Given the description of an element on the screen output the (x, y) to click on. 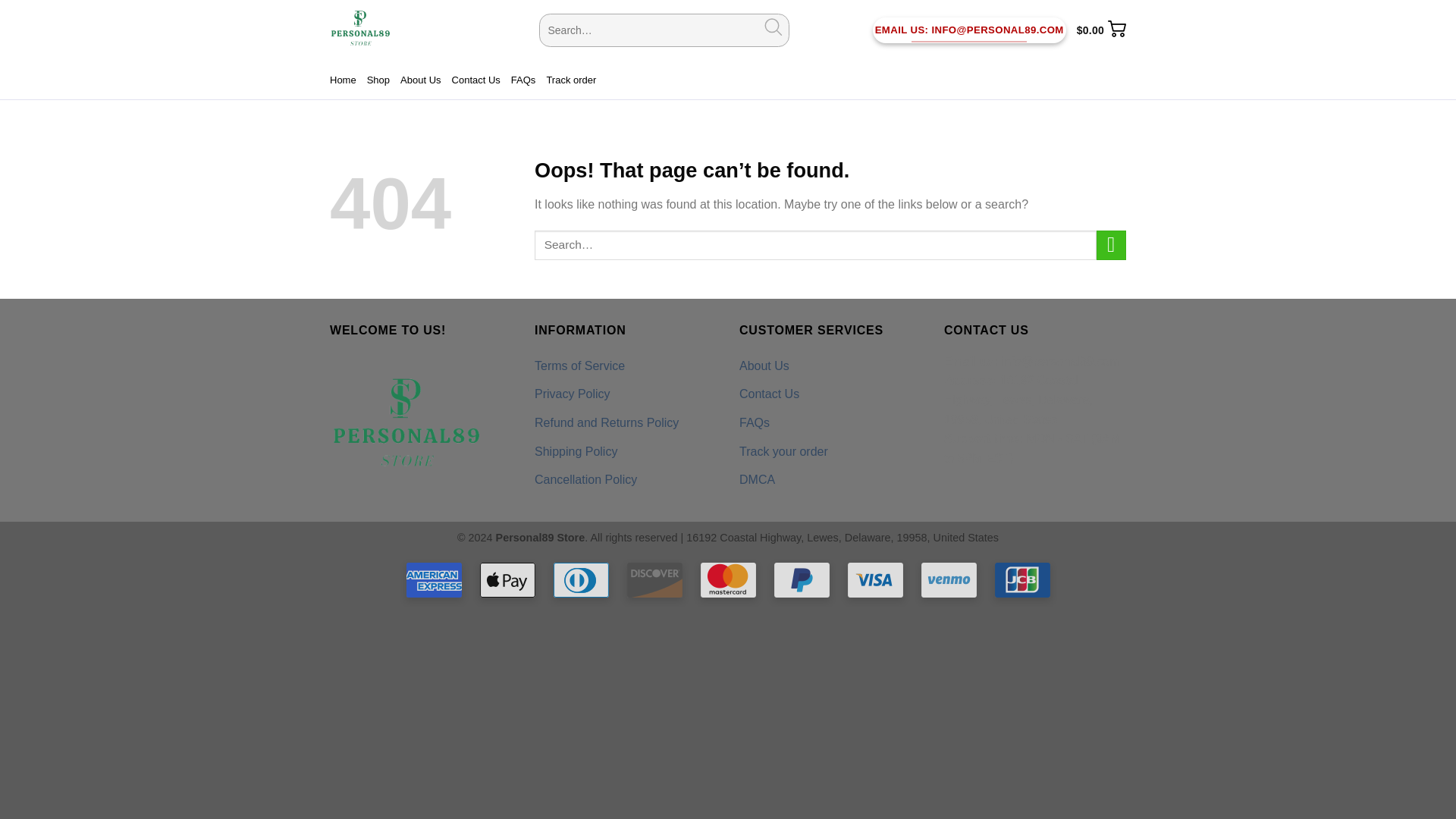
Personal89 Store - Personal89 Store (423, 30)
Track order (570, 79)
Refund and Returns Policy (606, 422)
FAQs (754, 422)
About Us (764, 366)
Track your order (783, 451)
About Us (420, 79)
Cancellation Policy (585, 480)
DMCA (756, 480)
Search (773, 30)
